Given the description of an element on the screen output the (x, y) to click on. 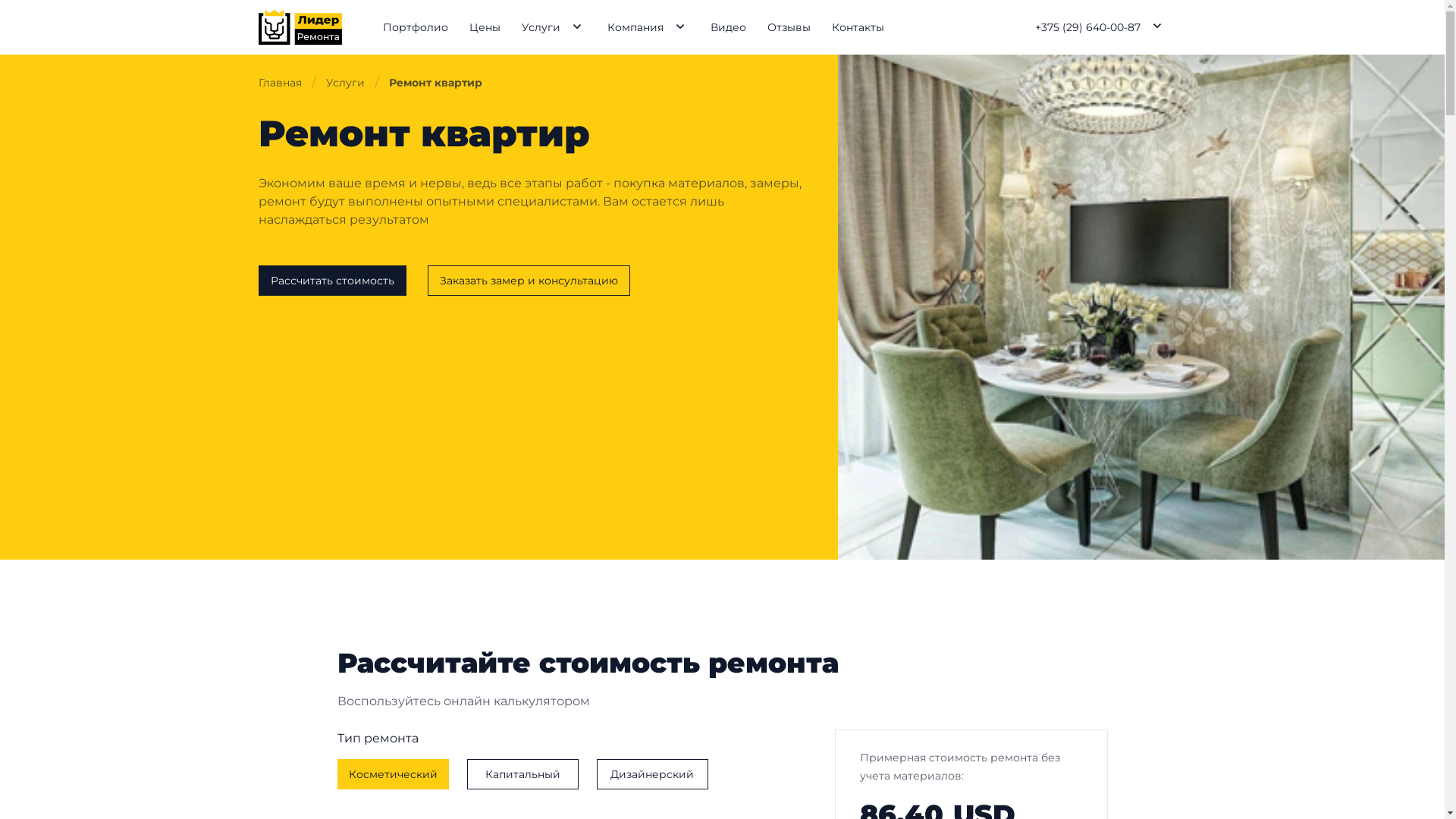
+375 (29) 640-00-87 Element type: text (1086, 27)
